Given the description of an element on the screen output the (x, y) to click on. 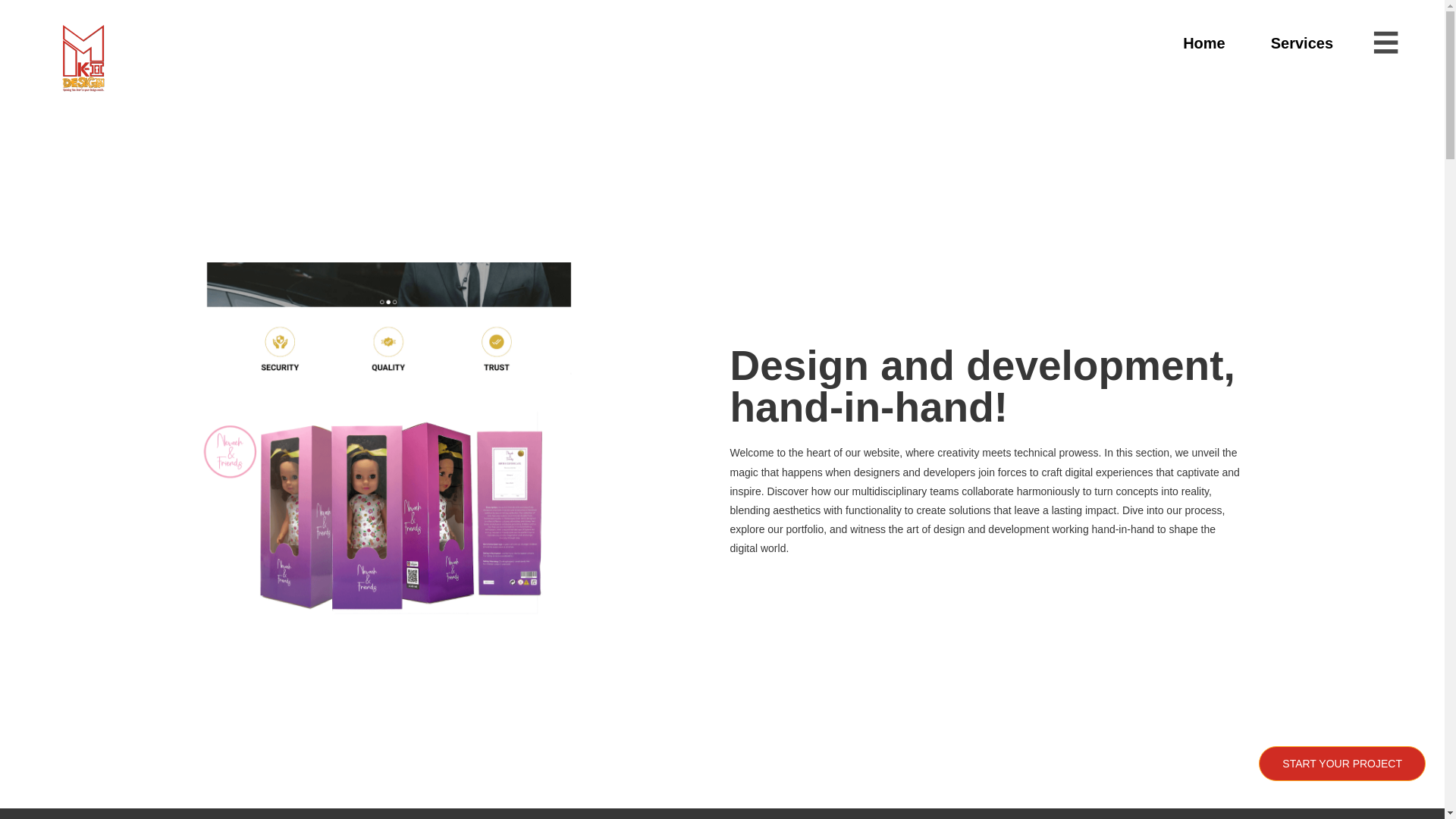
Services (1302, 43)
MikeY 2 Design LOGO (82, 60)
START YOUR PROJECT (1342, 763)
Home (1203, 43)
